Given the description of an element on the screen output the (x, y) to click on. 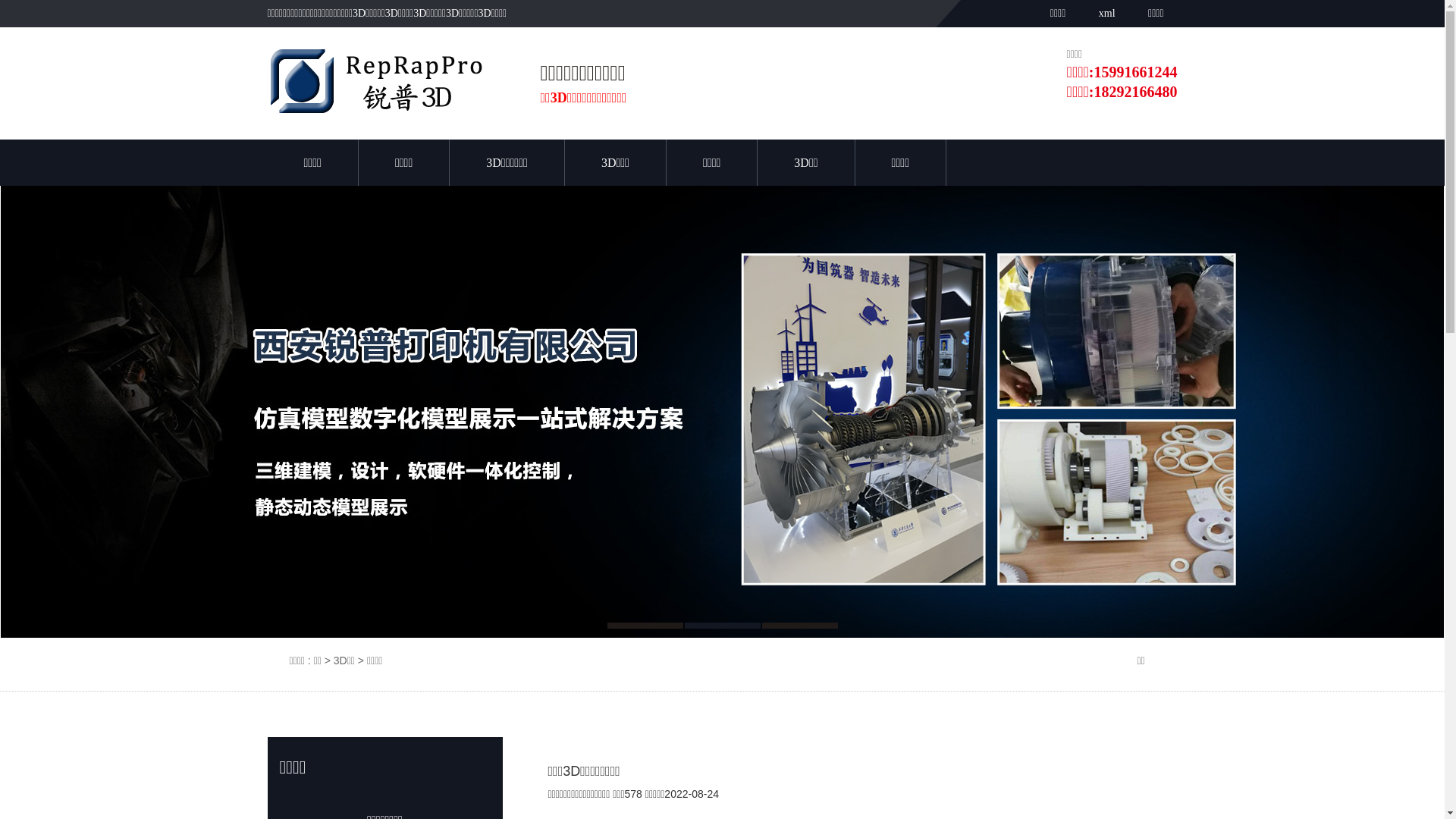
xml Element type: text (1105, 13)
